Given the description of an element on the screen output the (x, y) to click on. 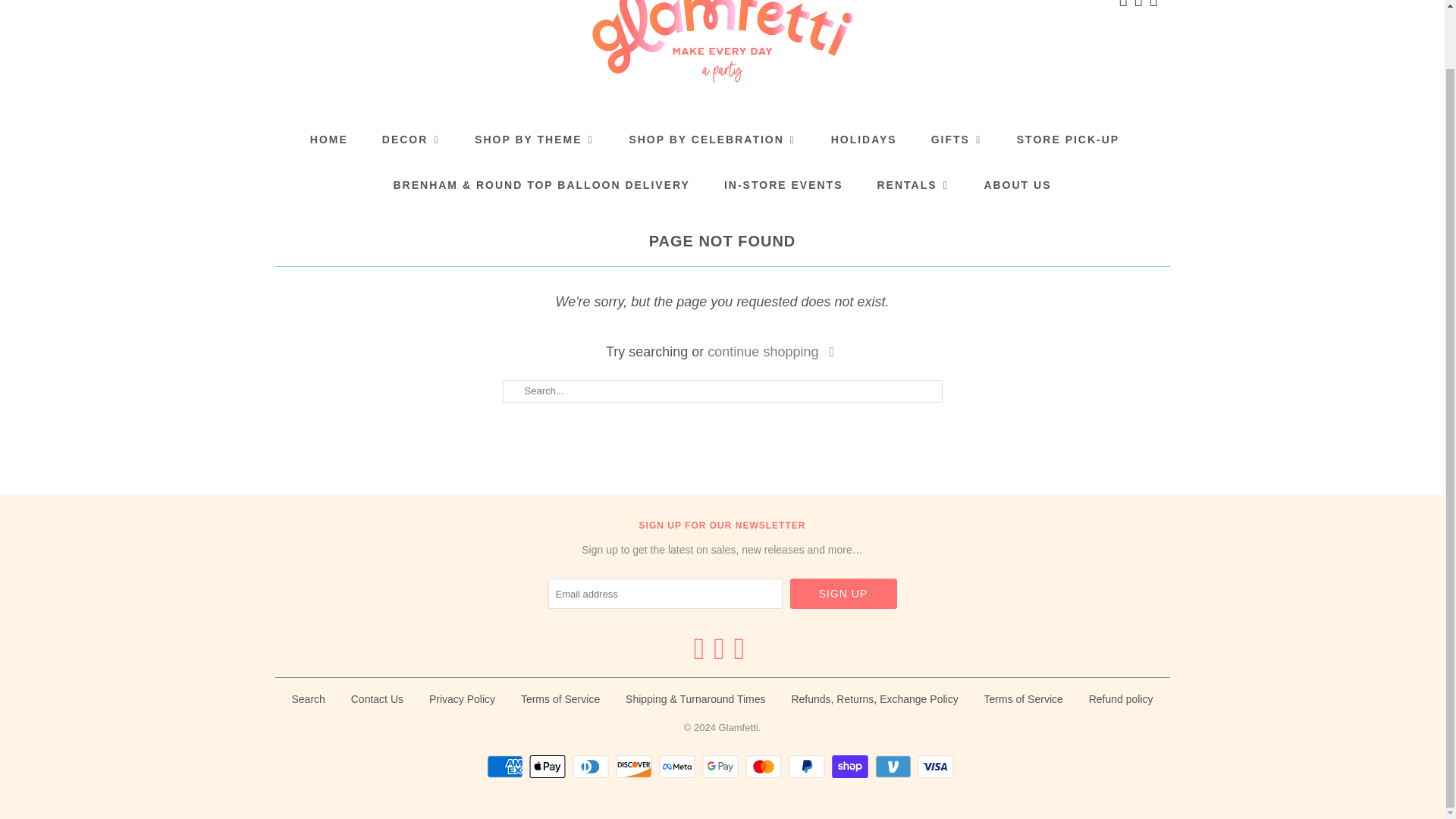
American Express (506, 766)
Discover (635, 766)
Shop Pay (851, 766)
Google Pay (721, 766)
Diners Club (592, 766)
Glamfetti on Instagram (1154, 4)
Venmo (895, 766)
Apple Pay (549, 766)
Meta Pay (678, 766)
Glamfetti on Facebook (1123, 4)
